Given the description of an element on the screen output the (x, y) to click on. 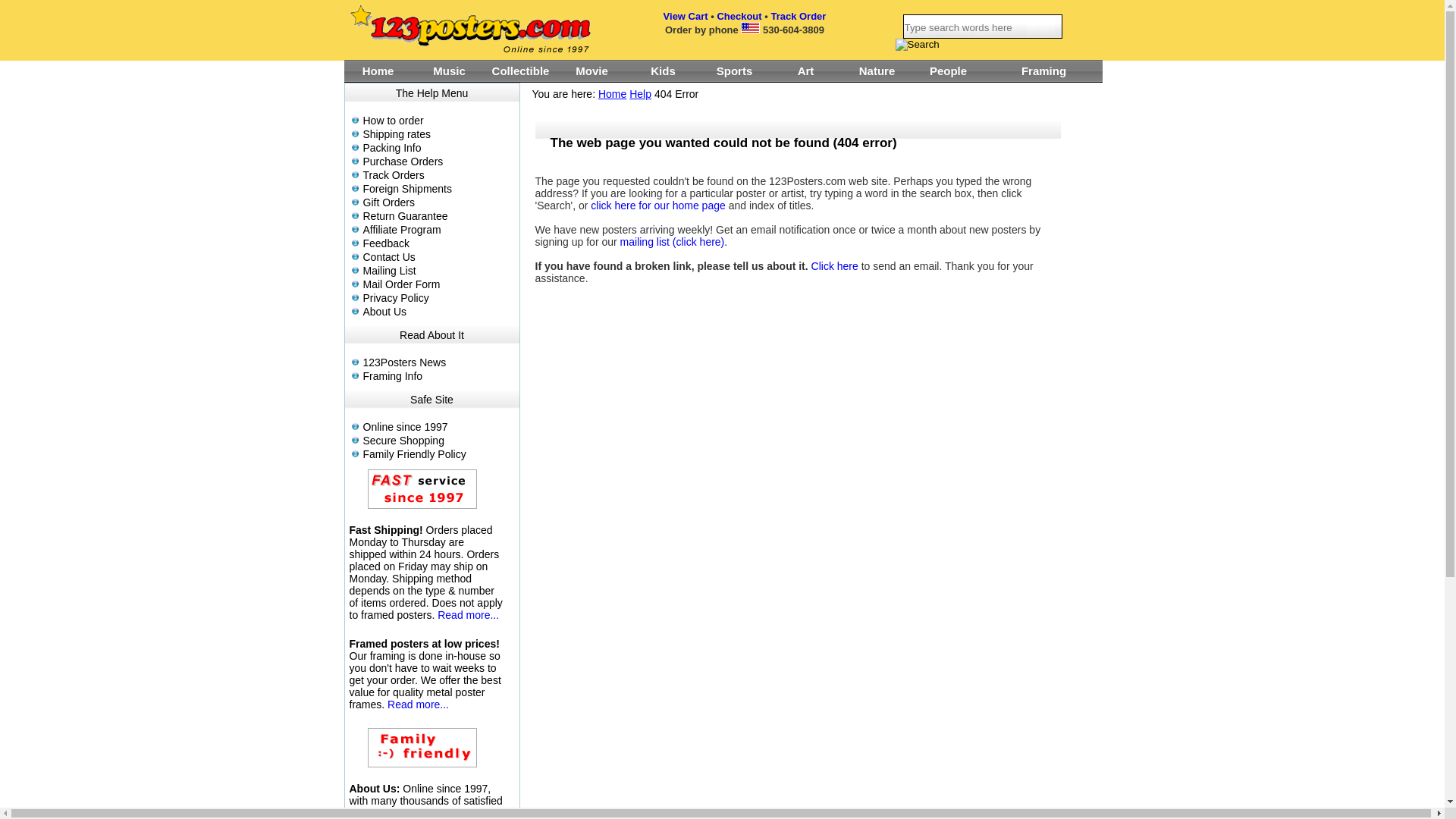
Track Orders Element type: text (438, 175)
Framing Element type: text (1043, 70)
Nature Element type: text (877, 70)
Foreign Shipments Element type: text (438, 188)
Read more... Element type: text (467, 614)
Help Element type: text (640, 93)
Purchase Orders Element type: text (438, 161)
View Cart Element type: text (685, 15)
Contact Us Element type: text (438, 257)
Shipping rates Element type: text (438, 134)
Family Friendly Policy Element type: text (438, 454)
Track Order Element type: text (797, 15)
click here for our home page Element type: text (657, 205)
Kids Element type: text (663, 70)
Framing Info Element type: text (438, 376)
Privacy Policy Element type: text (438, 297)
Return Guarantee Element type: text (438, 216)
How to order Element type: text (438, 120)
Home Element type: text (612, 93)
Affiliate Program Element type: text (438, 229)
Packing Info Element type: text (438, 147)
Mailing List Element type: text (438, 270)
123Posters News Element type: text (438, 362)
Checkout Element type: text (738, 15)
Gift Orders Element type: text (438, 202)
Read more... Element type: text (417, 704)
Online since 1997 Element type: text (438, 426)
Sports Element type: text (734, 70)
mailing list (click here). Element type: text (674, 241)
Mail Order Form Element type: text (438, 284)
Collectible Element type: text (520, 70)
Feedback Element type: text (438, 243)
Movie Element type: text (592, 70)
We are located in the USA Element type: hover (749, 27)
Search Element type: hover (916, 44)
Click here Element type: text (834, 266)
Secure Shopping Element type: text (438, 440)
People Element type: text (948, 70)
Home Element type: text (378, 70)
Art Element type: text (805, 70)
Music Element type: text (449, 70)
About Us Element type: text (438, 311)
123Posters Home Page Element type: hover (469, 29)
